Given the description of an element on the screen output the (x, y) to click on. 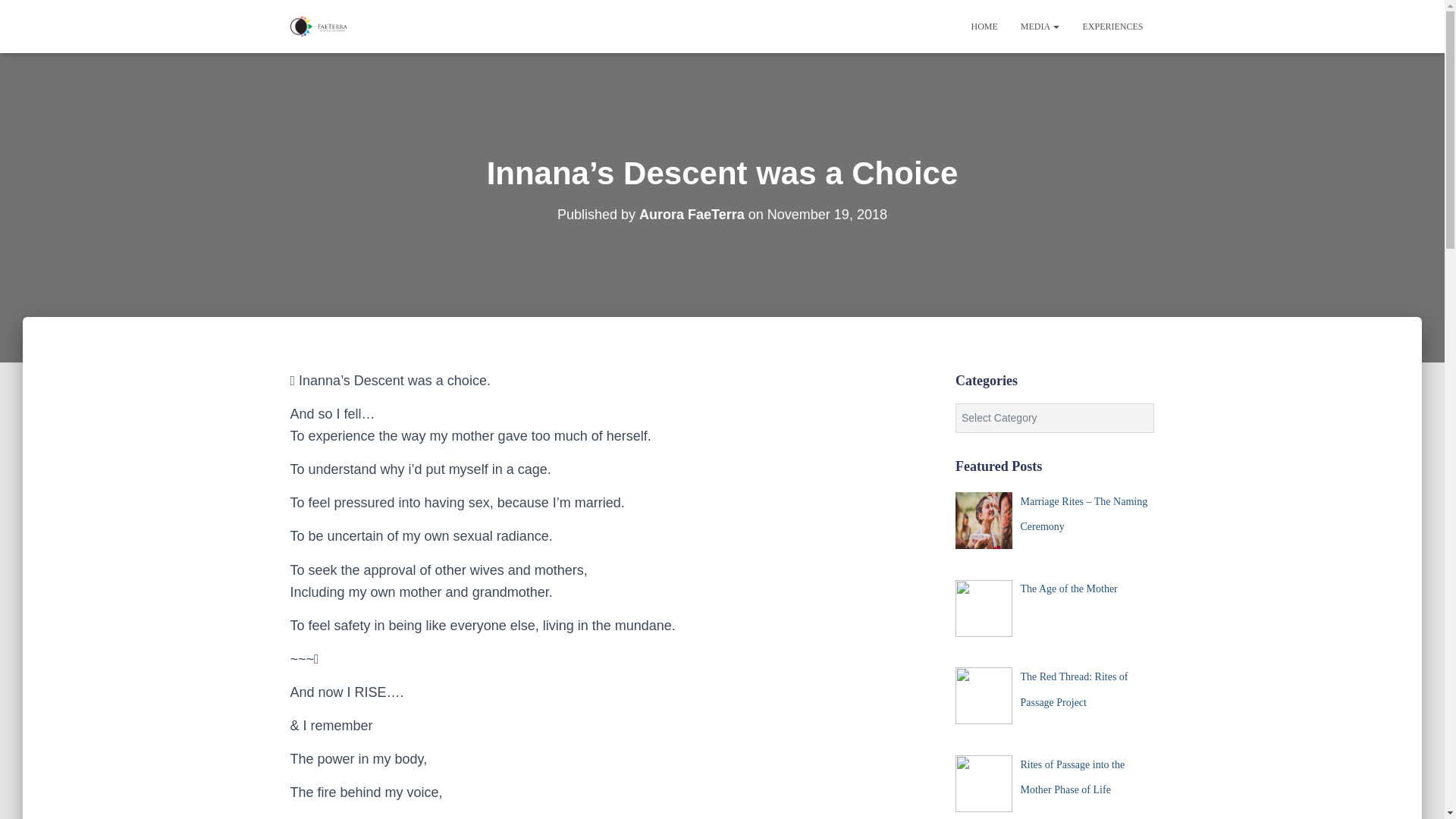
Rites of Passage into the Mother Phase of Life (1072, 777)
Media (1040, 26)
EXPERIENCES (1112, 26)
Home (984, 26)
Aurora FaeTerra (691, 214)
Experiences (1112, 26)
FaeTerra (318, 26)
The Age of the Mother (1068, 588)
MEDIA (1040, 26)
The Red Thread: Rites of Passage Project (1073, 689)
